Given the description of an element on the screen output the (x, y) to click on. 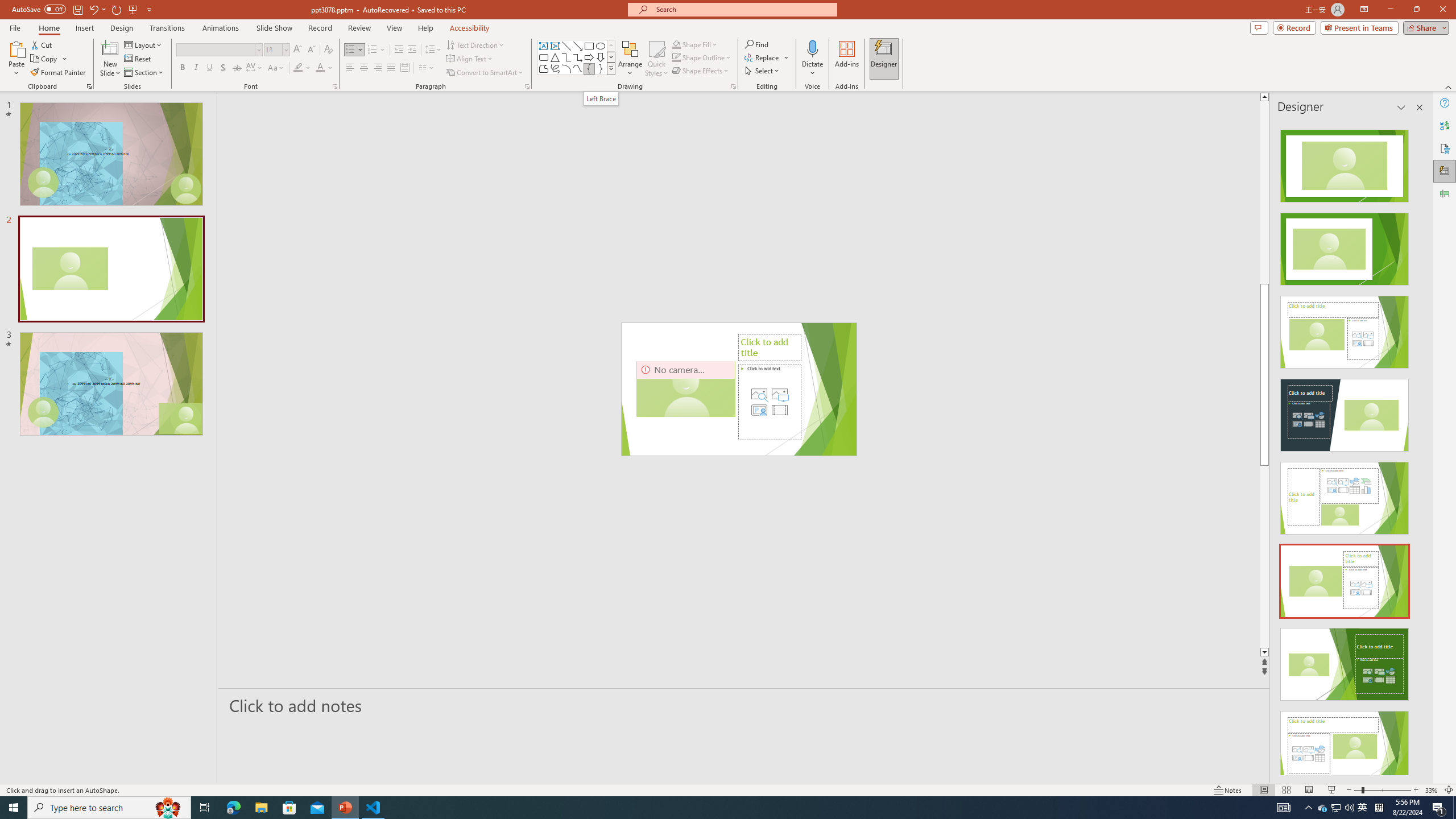
Line (566, 45)
Title TextBox (663, 389)
Text Direction (476, 44)
Insert Video (779, 409)
Numbering (376, 49)
Shape Outline (701, 56)
Bold (182, 67)
Center (363, 67)
Paste (16, 58)
Layout (143, 44)
